Given the description of an element on the screen output the (x, y) to click on. 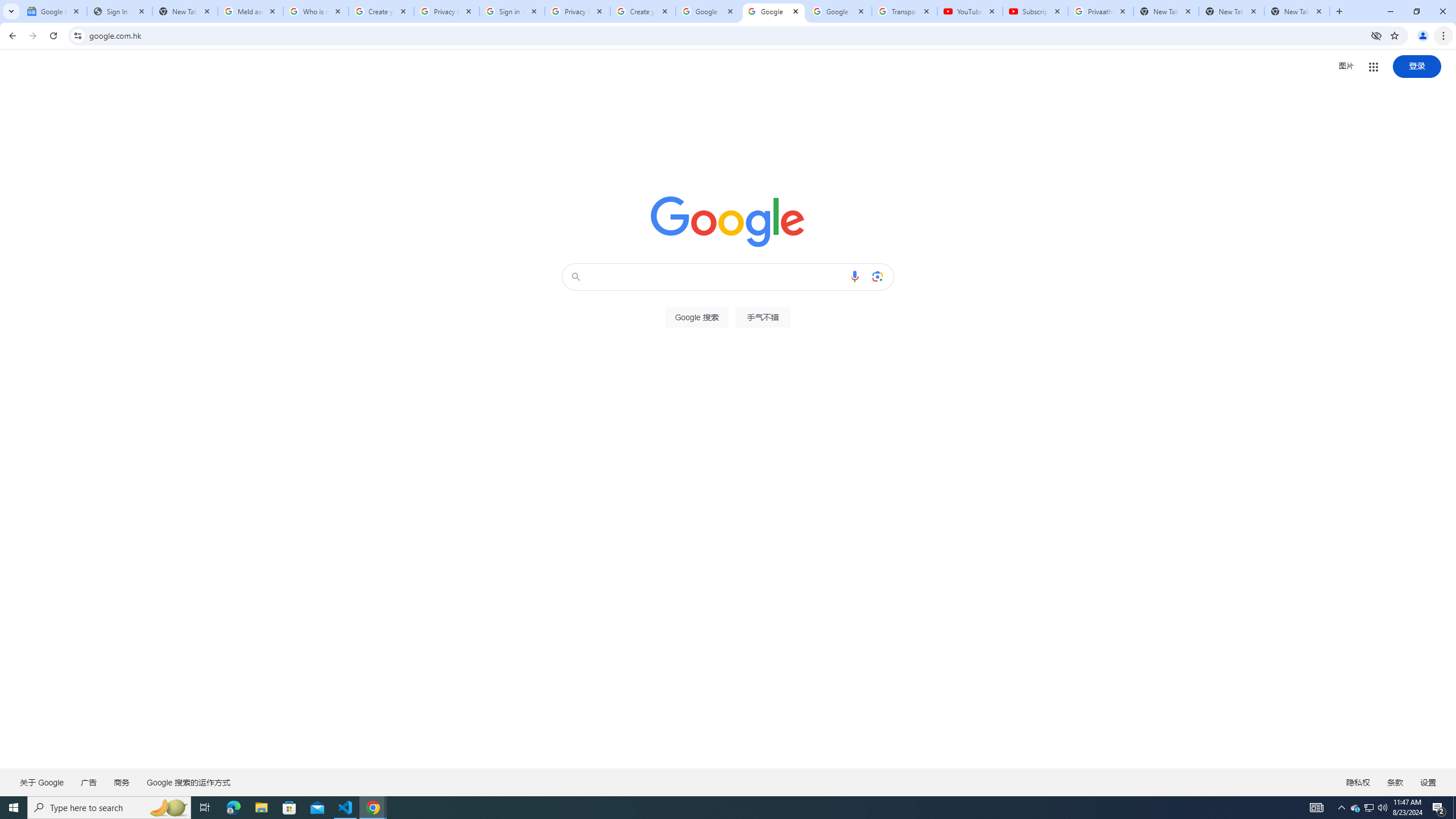
Google Account (838, 11)
Create your Google Account (381, 11)
